Given the description of an element on the screen output the (x, y) to click on. 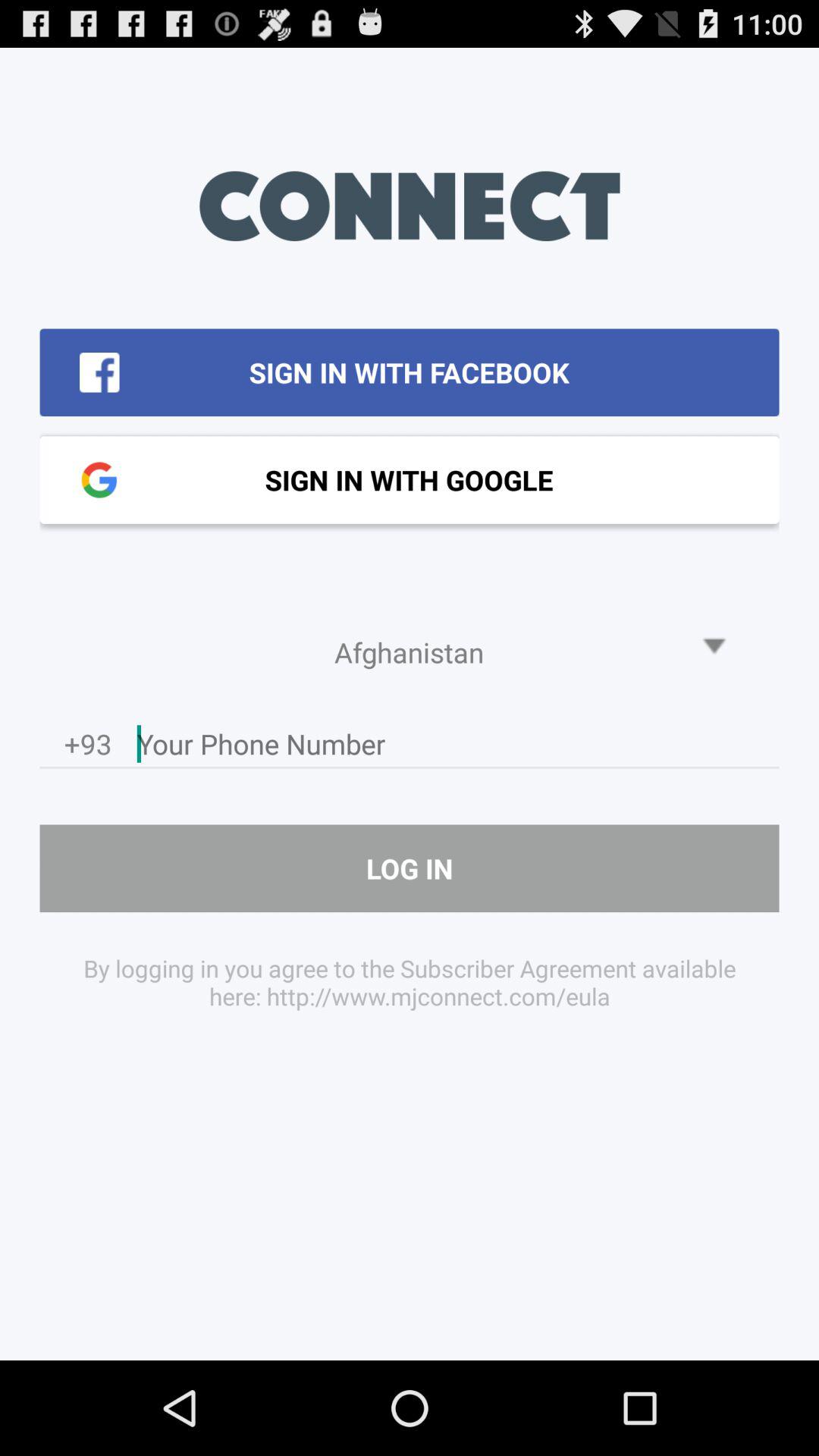
click on the phone field (458, 747)
